Given the description of an element on the screen output the (x, y) to click on. 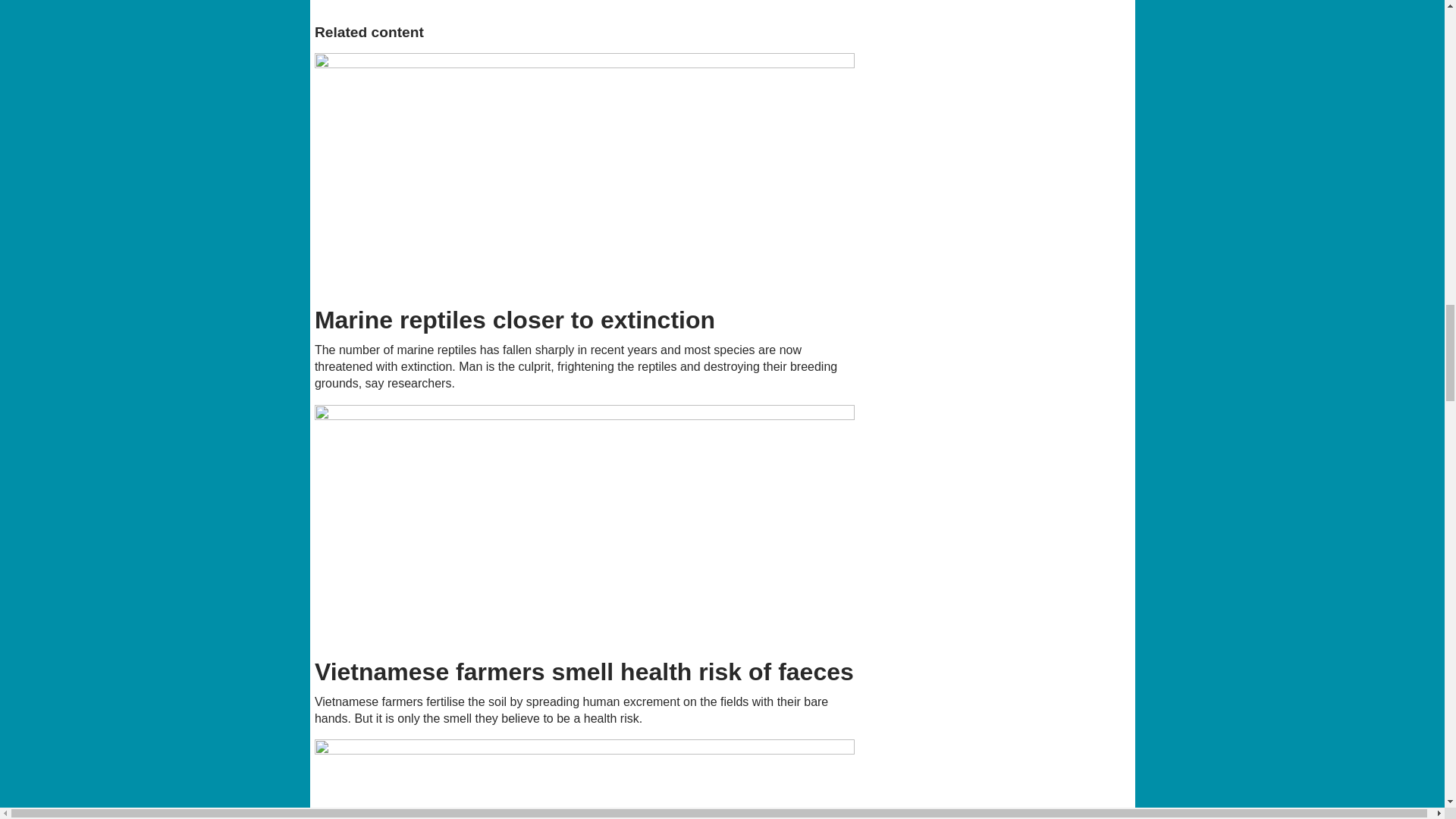
Vietnamese farmers smell health risk of faeces (585, 526)
Is meat from stressed animals unhealthy? (585, 779)
Marine reptiles closer to extinction (585, 174)
